Given the description of an element on the screen output the (x, y) to click on. 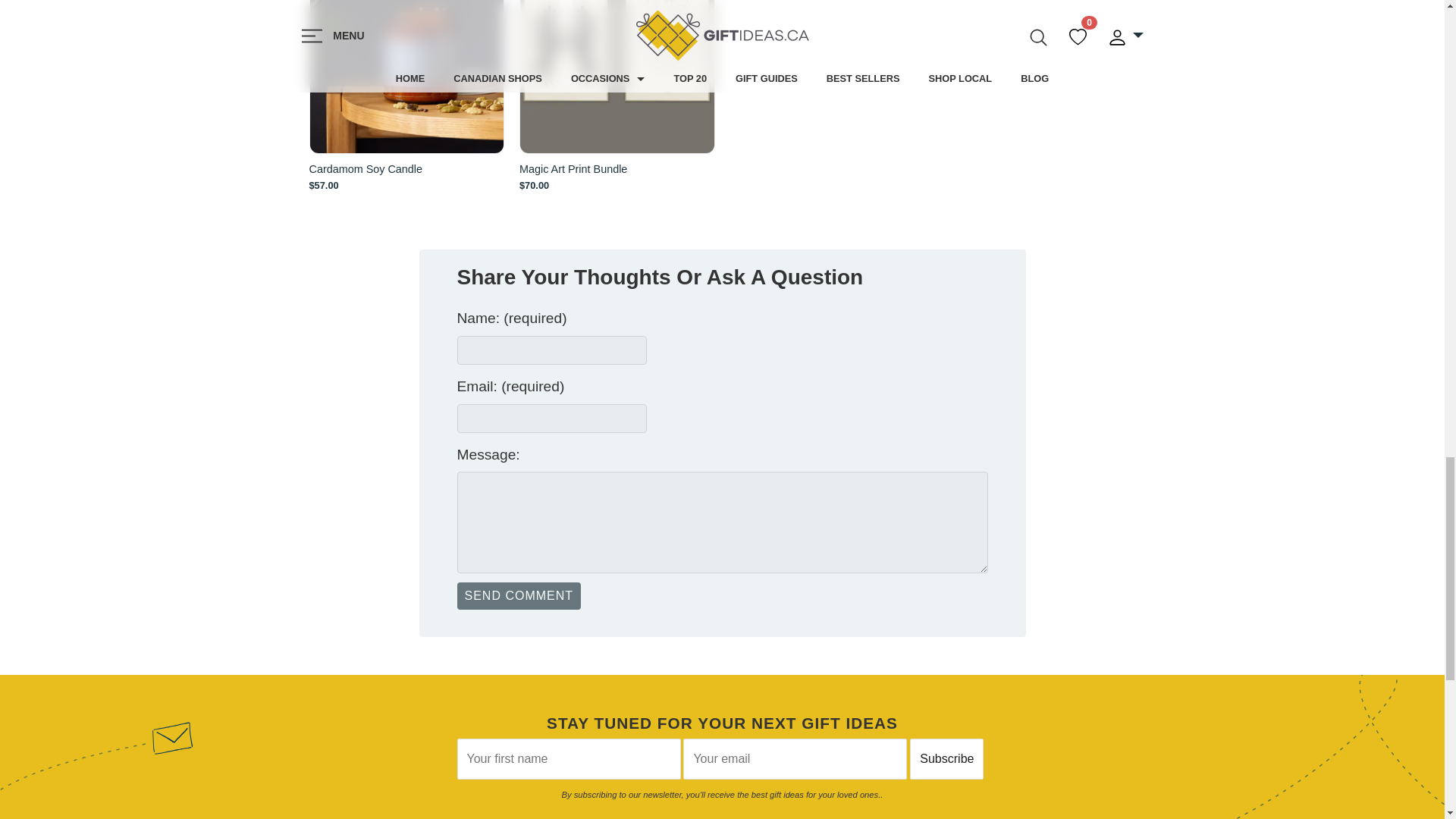
Send Comment (518, 595)
Subscribe (947, 758)
View the product page (406, 76)
